Given the description of an element on the screen output the (x, y) to click on. 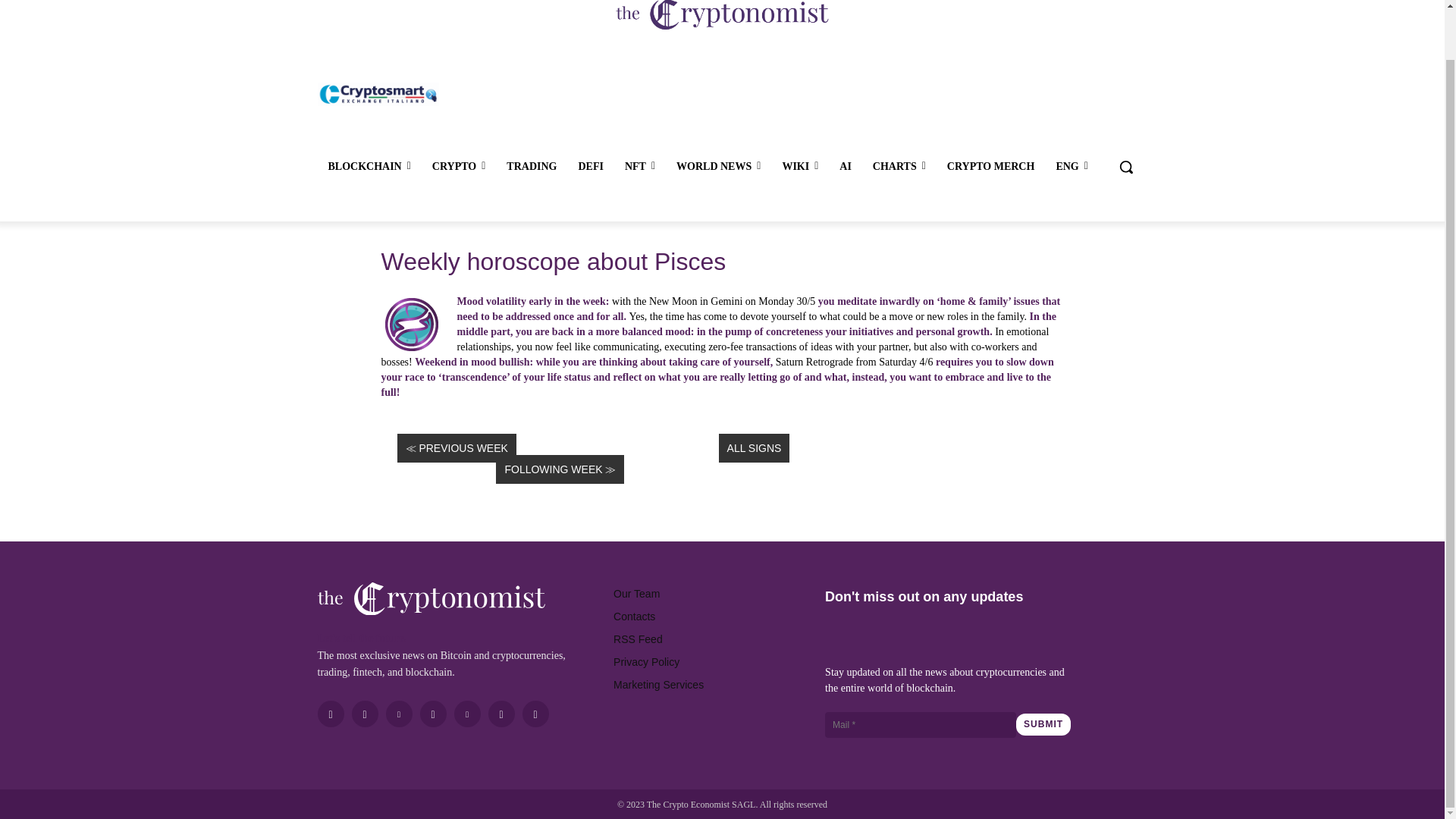
Youtube (501, 714)
Instagram (365, 714)
Telegram (433, 714)
Threads (534, 714)
Linkedin (398, 714)
Facebook (330, 714)
Twitter (466, 714)
